Given the description of an element on the screen output the (x, y) to click on. 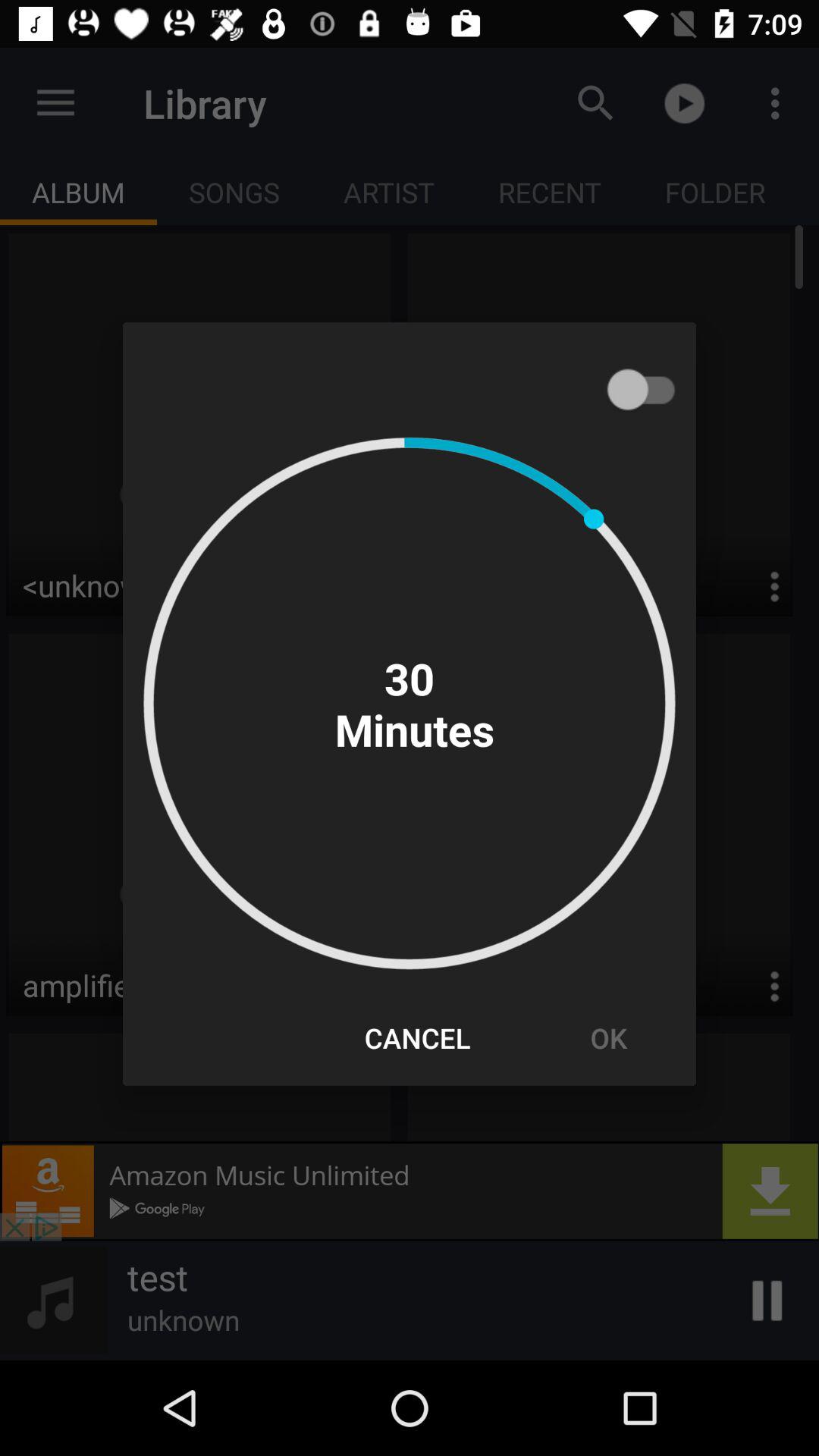
shows the slider option (648, 389)
